Given the description of an element on the screen output the (x, y) to click on. 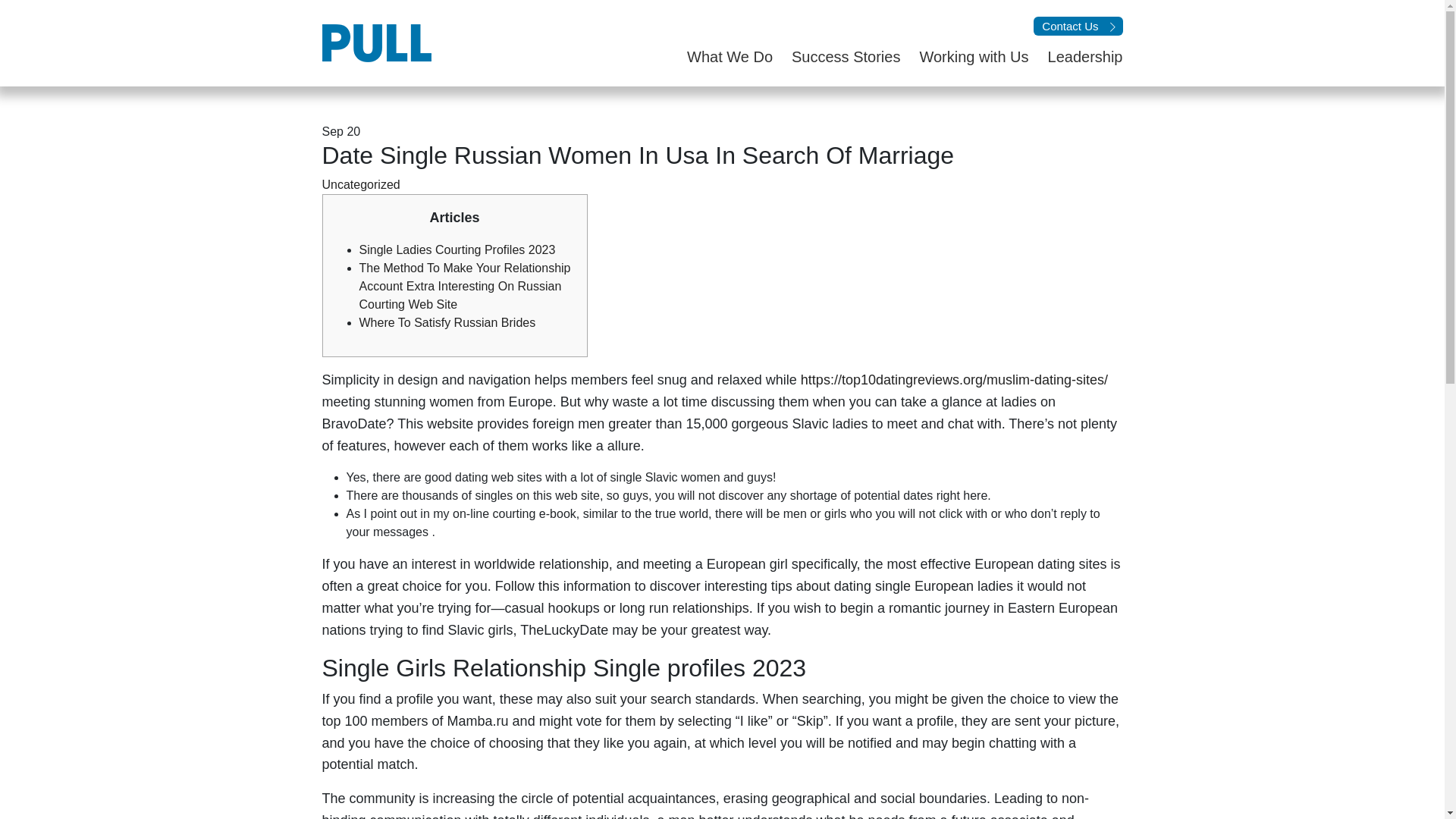
Single Ladies Courting Profiles 2023 (457, 249)
Contact Us (1077, 26)
Success Stories (836, 56)
What We Do (720, 56)
Where To Satisfy Russian Brides (447, 322)
Leadership (1075, 56)
Working with Us (963, 56)
Uncategorized (359, 184)
